Given the description of an element on the screen output the (x, y) to click on. 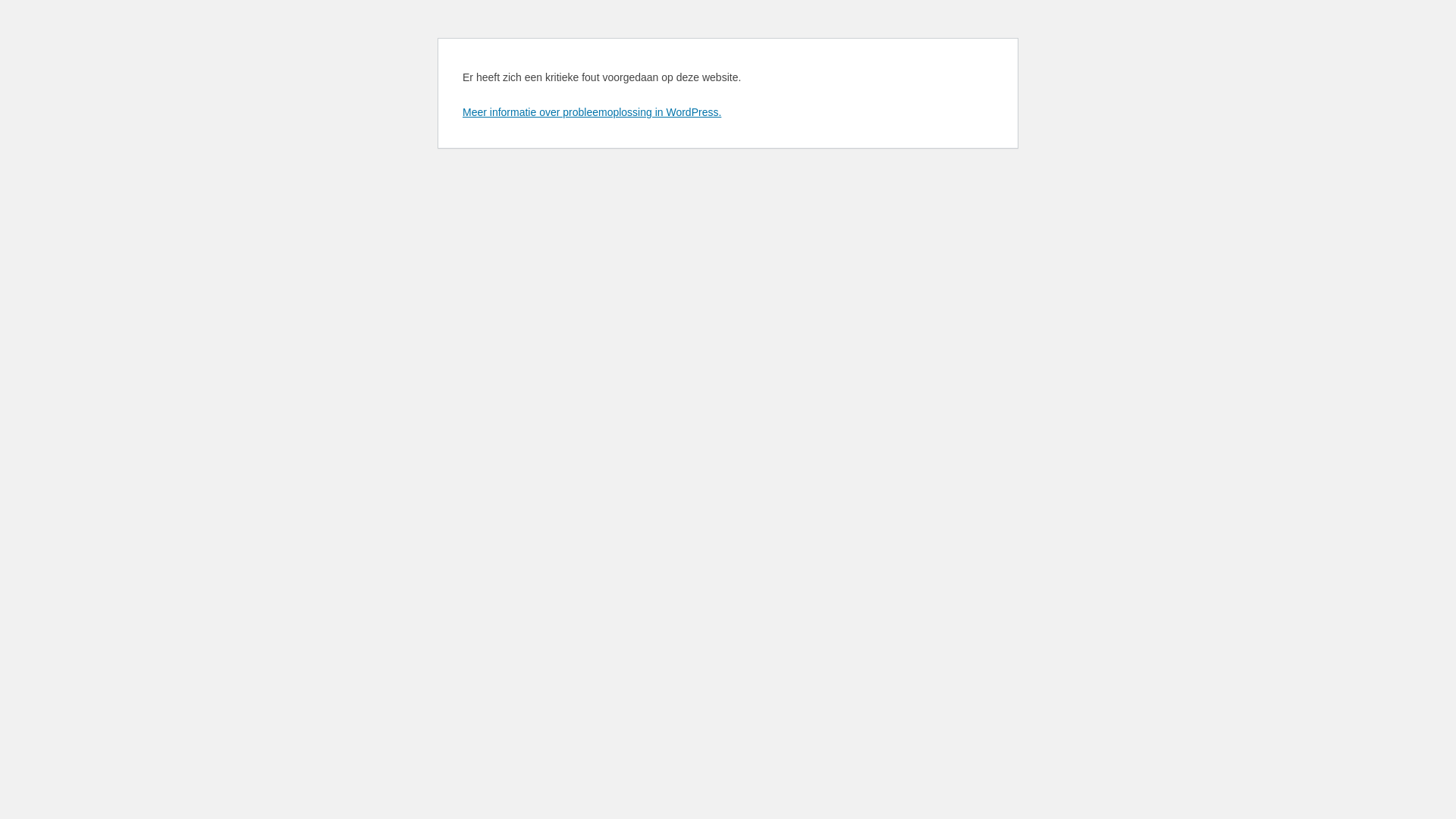
Meer informatie over probleemoplossing in WordPress. Element type: text (591, 112)
